Given the description of an element on the screen output the (x, y) to click on. 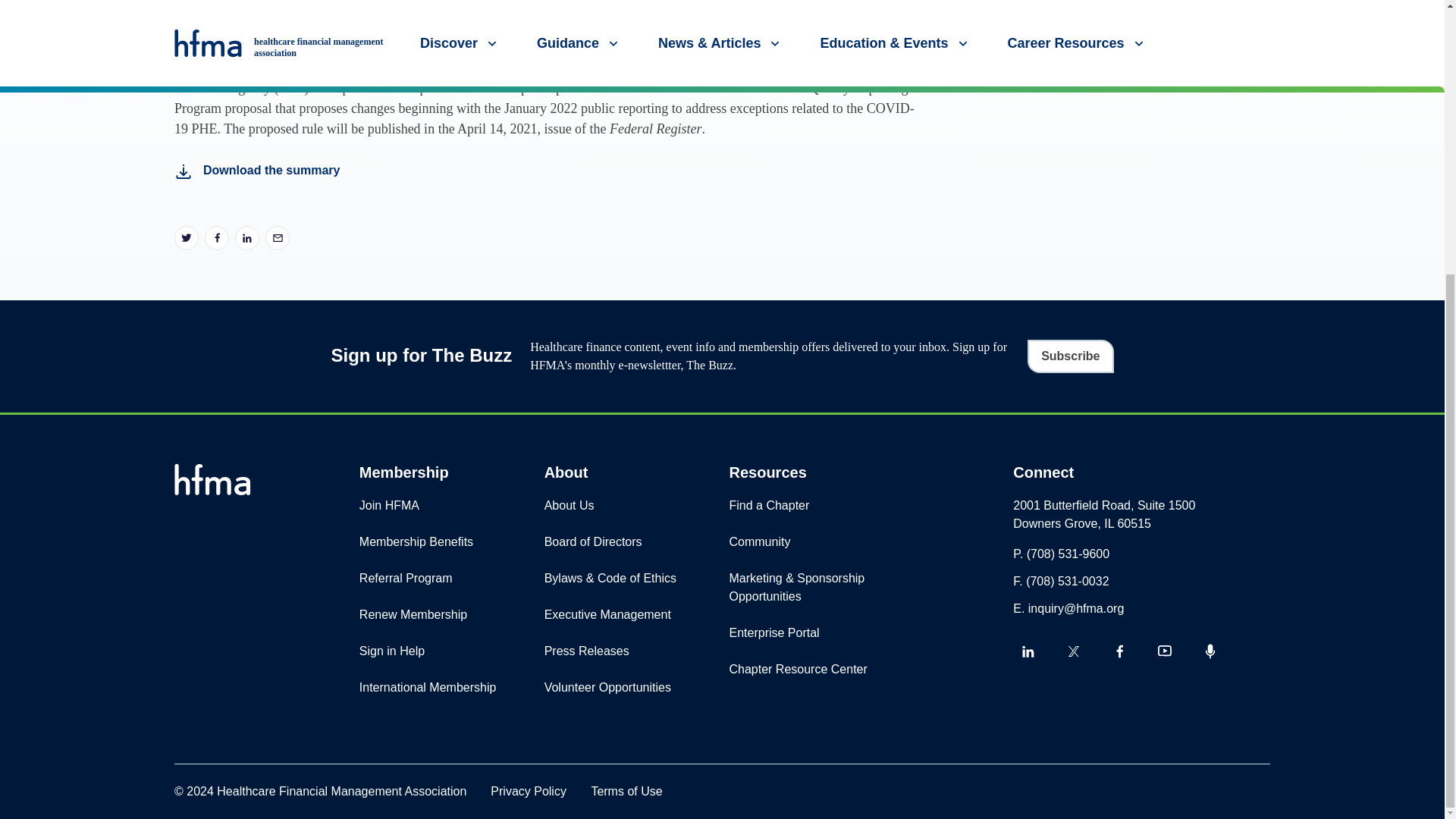
Click to share on LinkedIn (246, 238)
Click to share on Facebook (216, 238)
Click to email a link to a friend (276, 238)
Click to share on Twitter (186, 238)
